Given the description of an element on the screen output the (x, y) to click on. 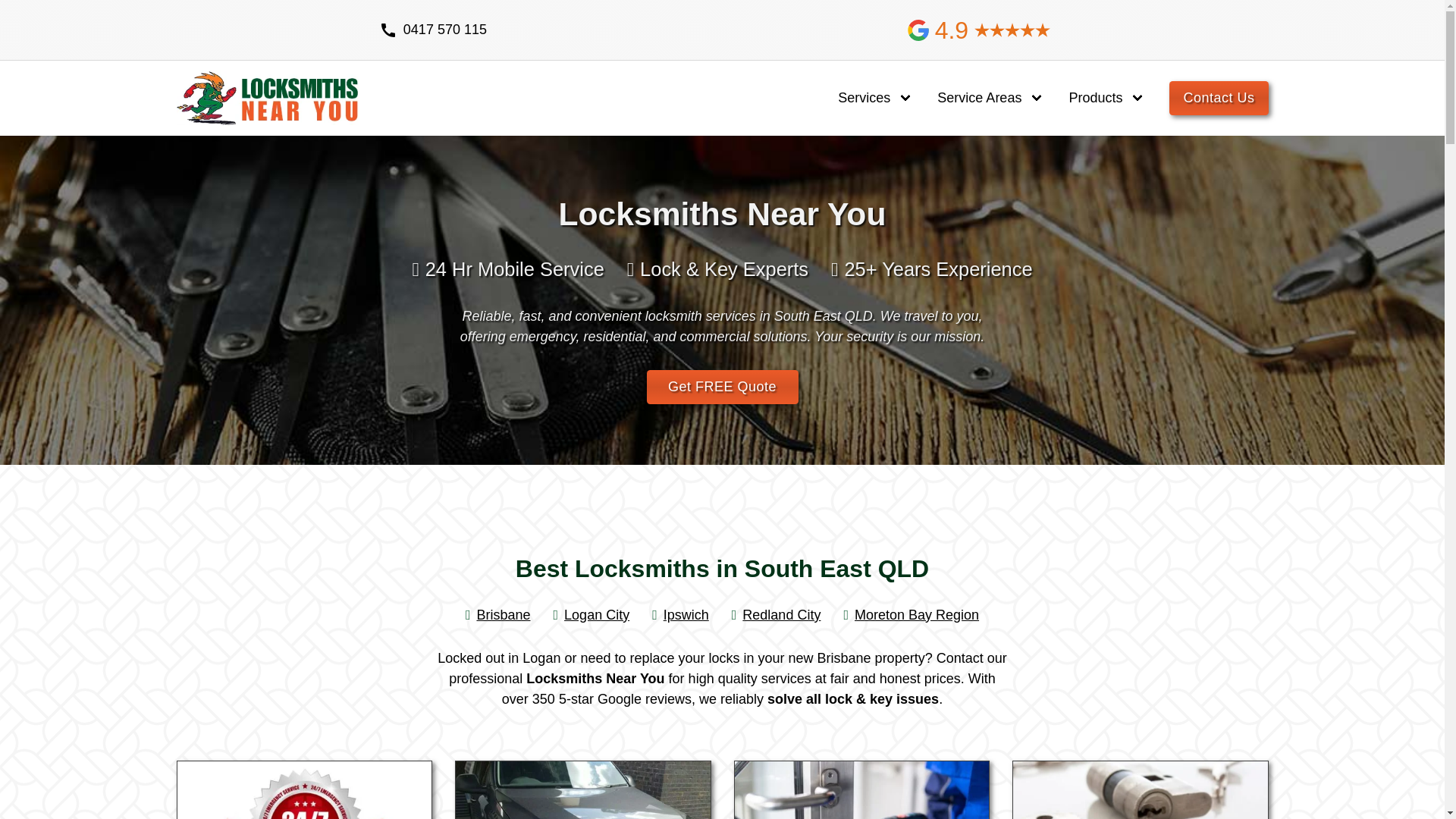
Redland City Element type: text (776, 614)
Services Element type: text (863, 97)
Moreton Bay Region Element type: text (911, 614)
Service Areas Element type: text (979, 97)
Products Element type: text (1095, 97)
Logan City Element type: text (591, 614)
4.9 Element type: text (978, 30)
Contact Us Element type: text (1218, 98)
Get FREE Quote Element type: text (721, 387)
Brisbane Element type: text (497, 614)
Ipswich Element type: text (680, 614)
